Given the description of an element on the screen output the (x, y) to click on. 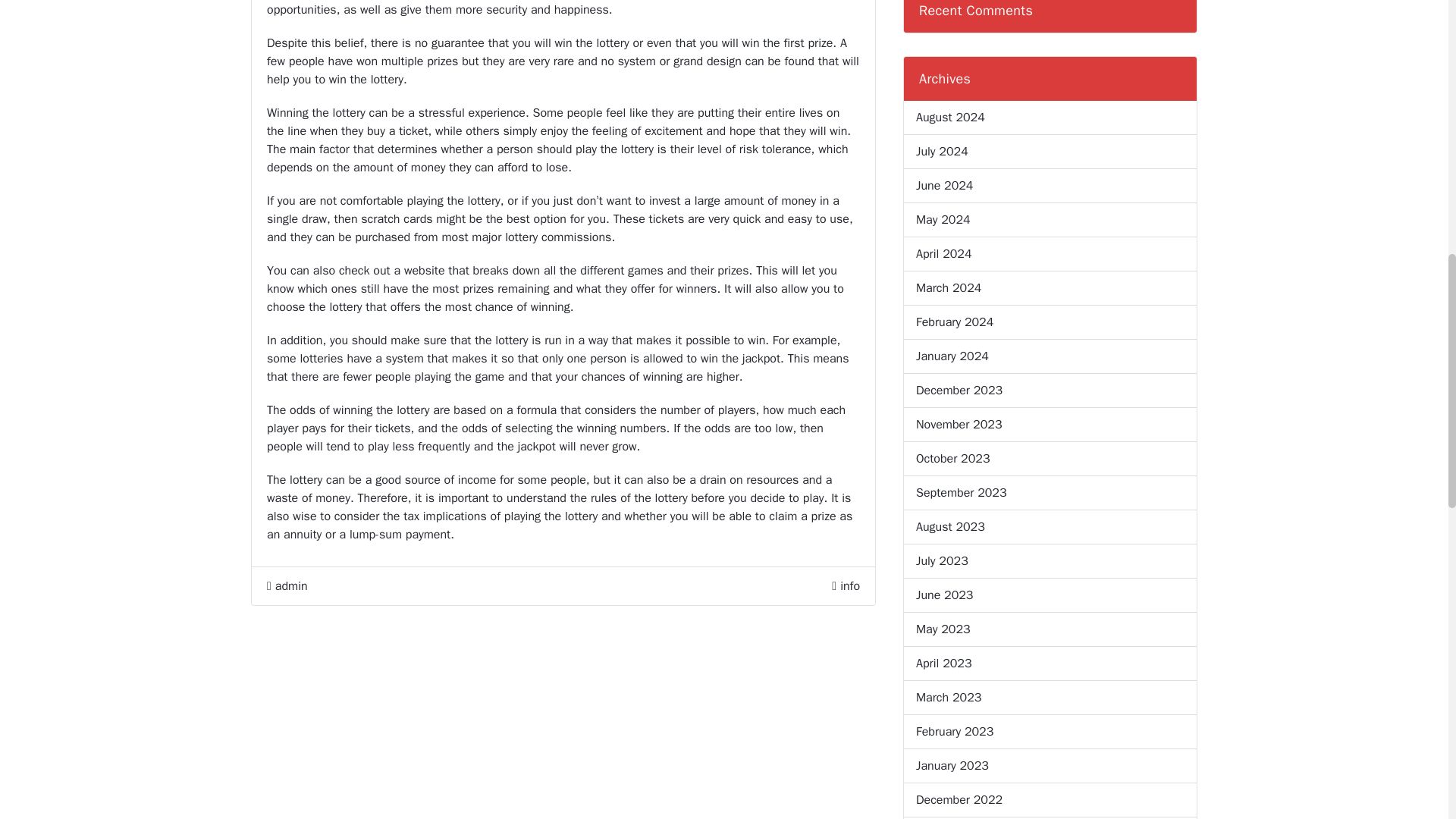
November 2023 (958, 424)
January 2023 (951, 765)
May 2024 (943, 219)
July 2024 (941, 151)
December 2023 (959, 390)
October 2023 (952, 458)
July 2023 (941, 561)
August 2023 (950, 526)
September 2023 (961, 493)
March 2023 (948, 697)
December 2022 (959, 800)
admin (286, 586)
June 2024 (943, 185)
August 2024 (950, 117)
March 2024 (948, 288)
